Given the description of an element on the screen output the (x, y) to click on. 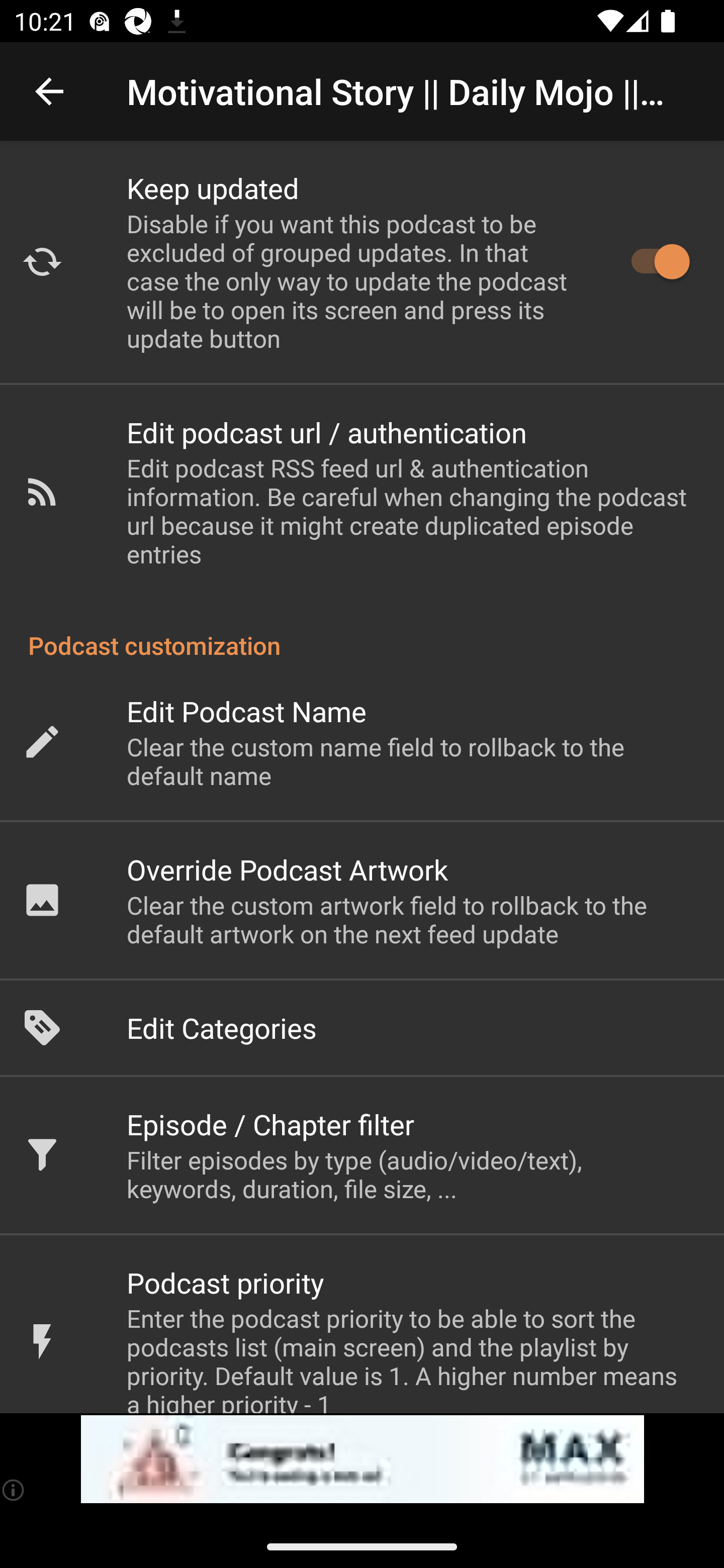
Navigate up (49, 91)
Edit Categories (362, 1027)
app-monetization (362, 1459)
(i) (14, 1489)
